Given the description of an element on the screen output the (x, y) to click on. 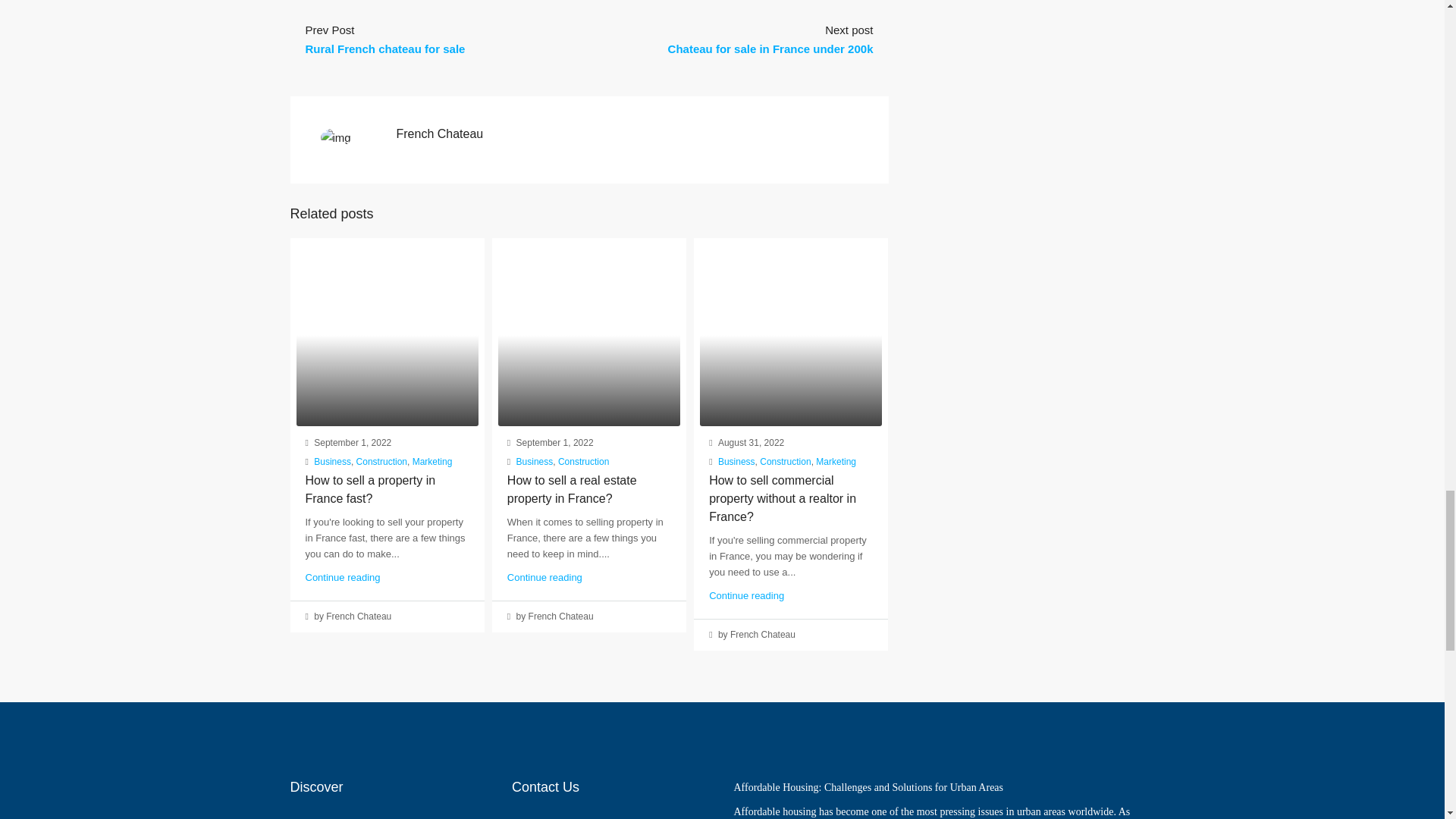
Chateau for sale in France under 200k (770, 48)
Business (332, 461)
Construction (381, 461)
Rural French chateau for sale (384, 48)
